Given the description of an element on the screen output the (x, y) to click on. 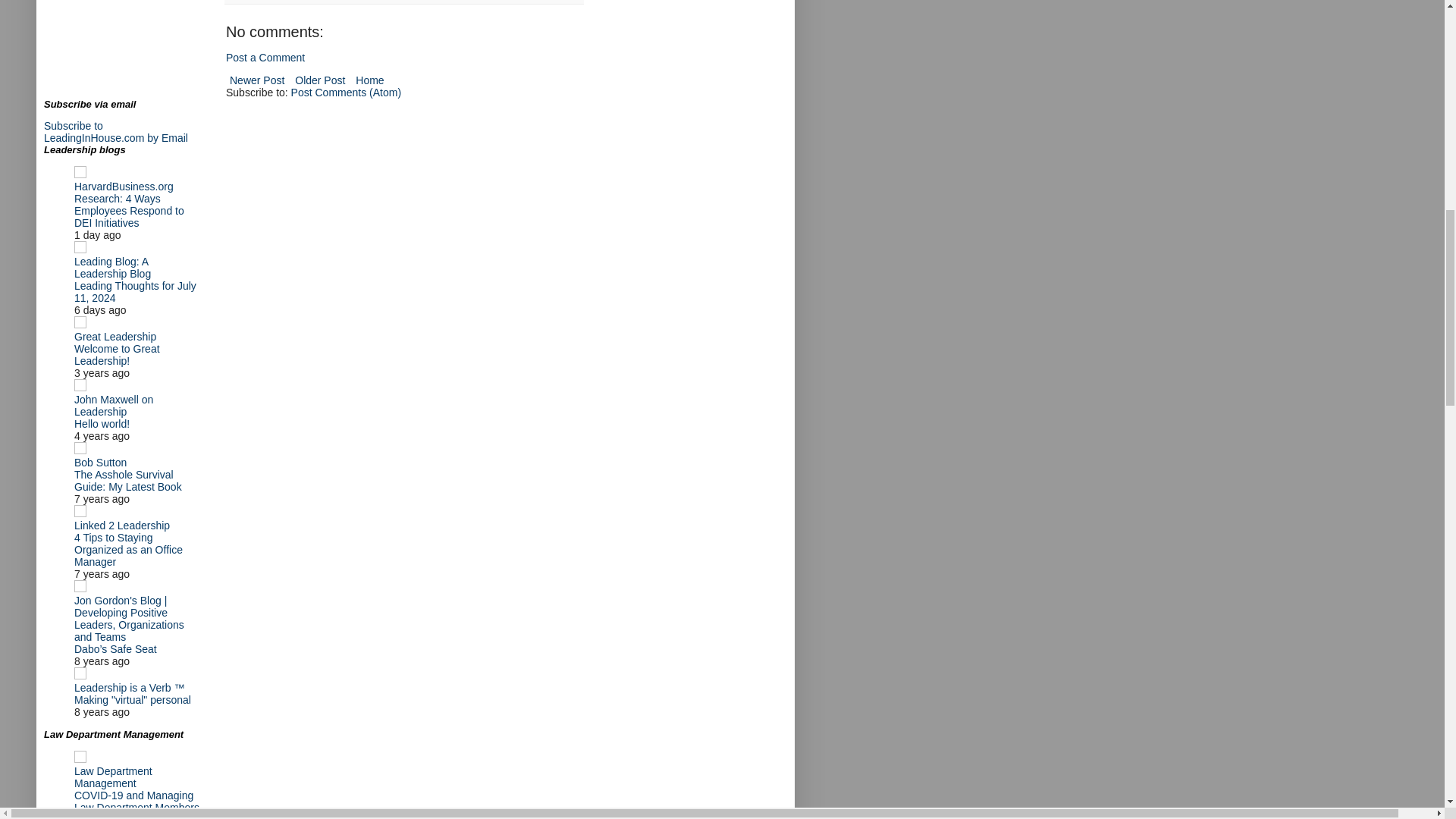
Welcome to Great Leadership! (117, 354)
Hello world! (101, 423)
John Maxwell on Leadership (113, 405)
Research: 4 Ways Employees Respond to DEI Initiatives (129, 210)
4 Tips to Staying Organized as an Office Manager (128, 549)
Newer Post (256, 80)
Great Leadership (114, 336)
The Asshole Survival Guide: My Latest Book (128, 480)
Subscribe to LeadingInHouse.com by Email (115, 131)
Older Post (320, 80)
Leading Blog: A Leadership Blog (112, 267)
Newer Post (256, 80)
Home (369, 80)
Older Post (320, 80)
Leading Thoughts for July 11, 2024 (135, 291)
